Given the description of an element on the screen output the (x, y) to click on. 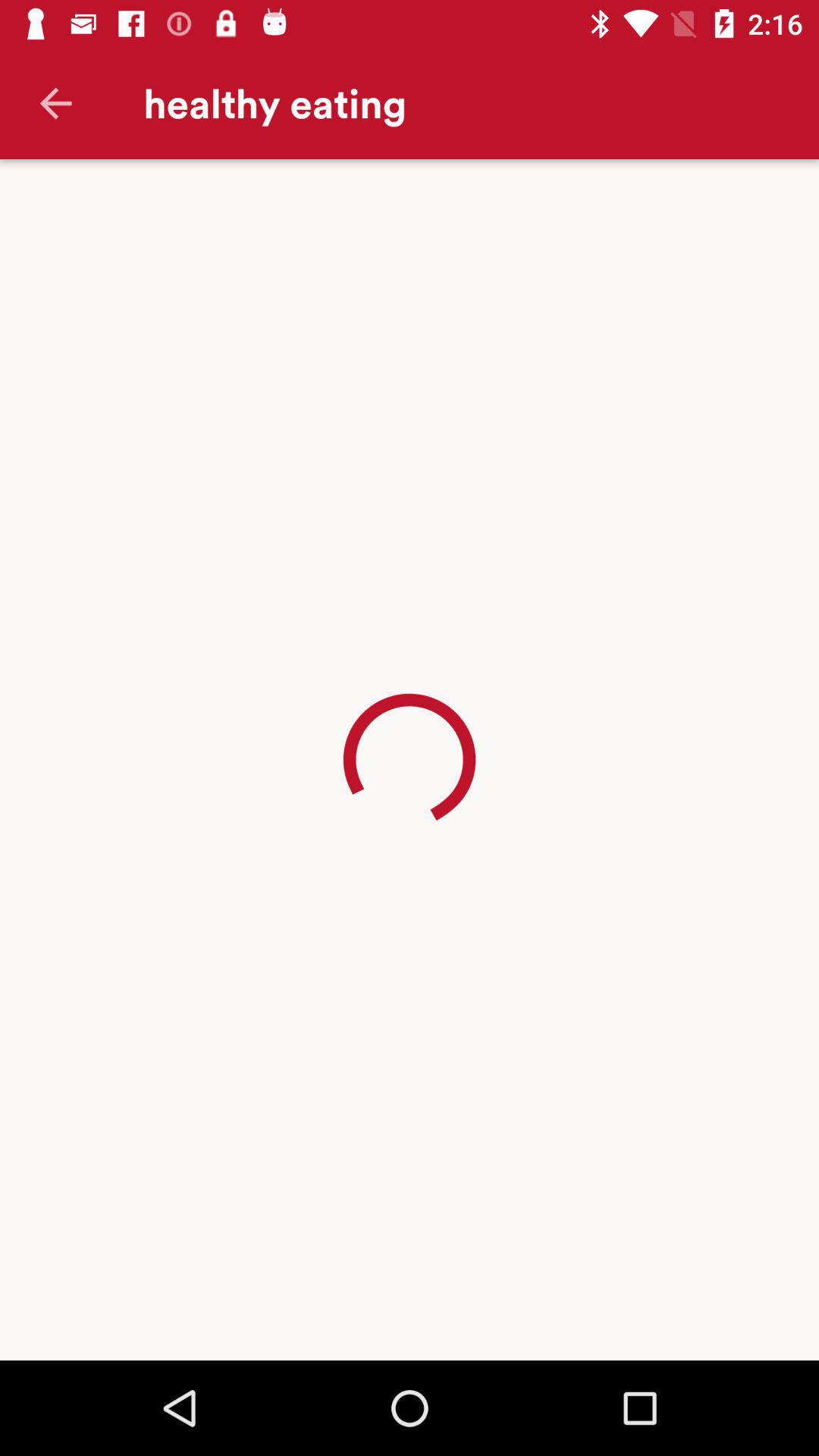
open item next to healthy eating icon (55, 103)
